Given the description of an element on the screen output the (x, y) to click on. 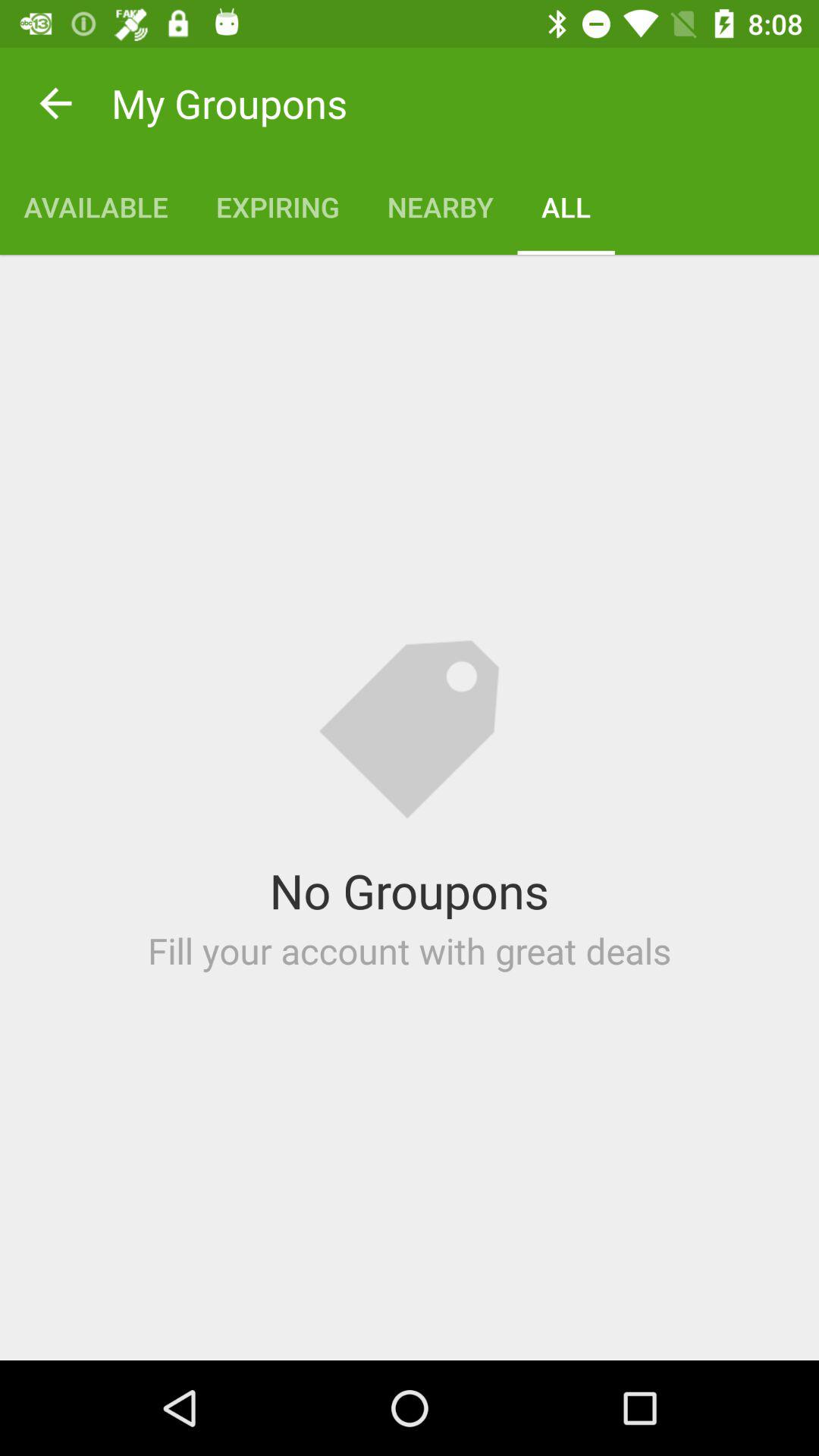
turn off the nearby (440, 206)
